Given the description of an element on the screen output the (x, y) to click on. 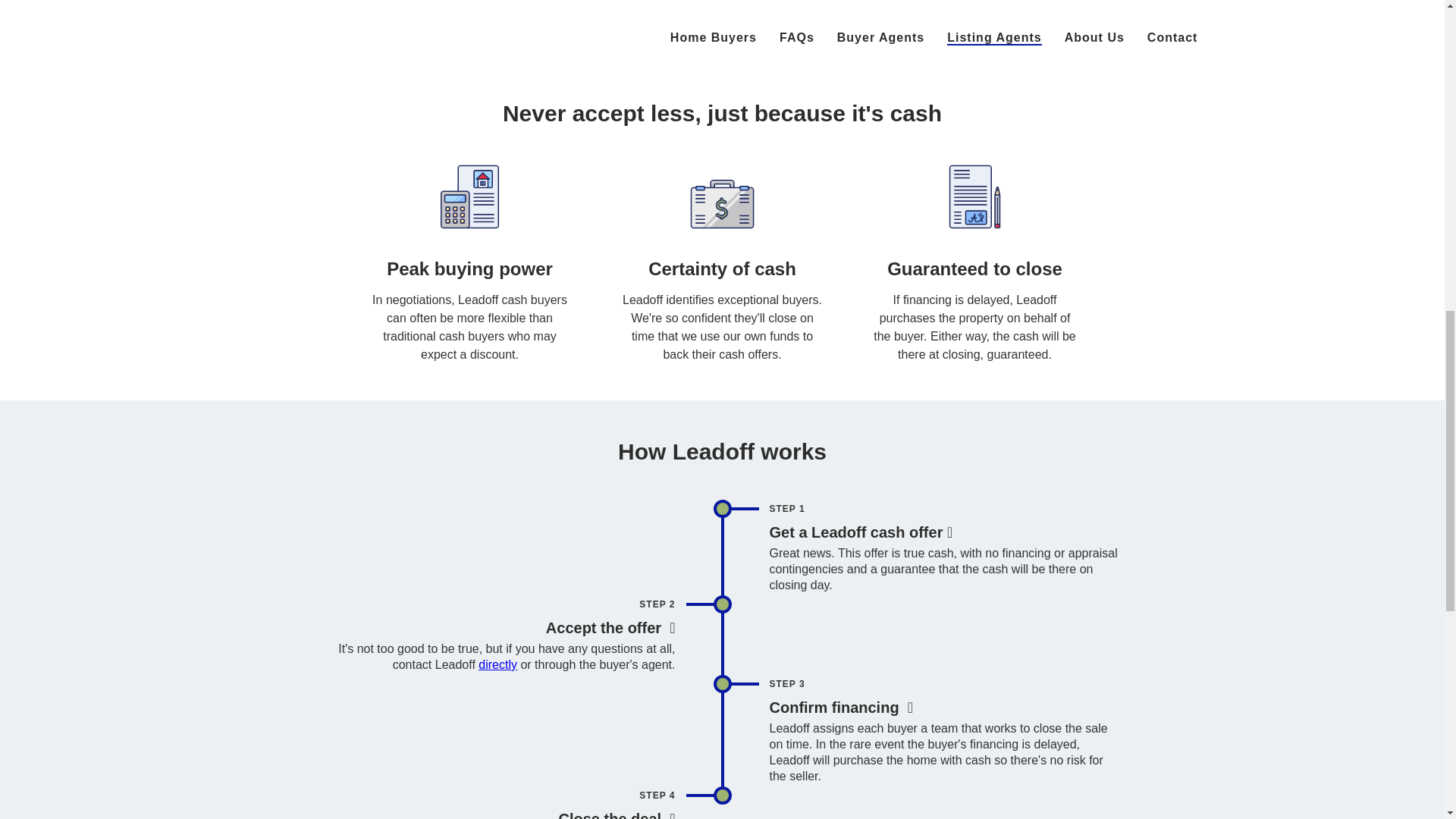
directly (497, 664)
